Given the description of an element on the screen output the (x, y) to click on. 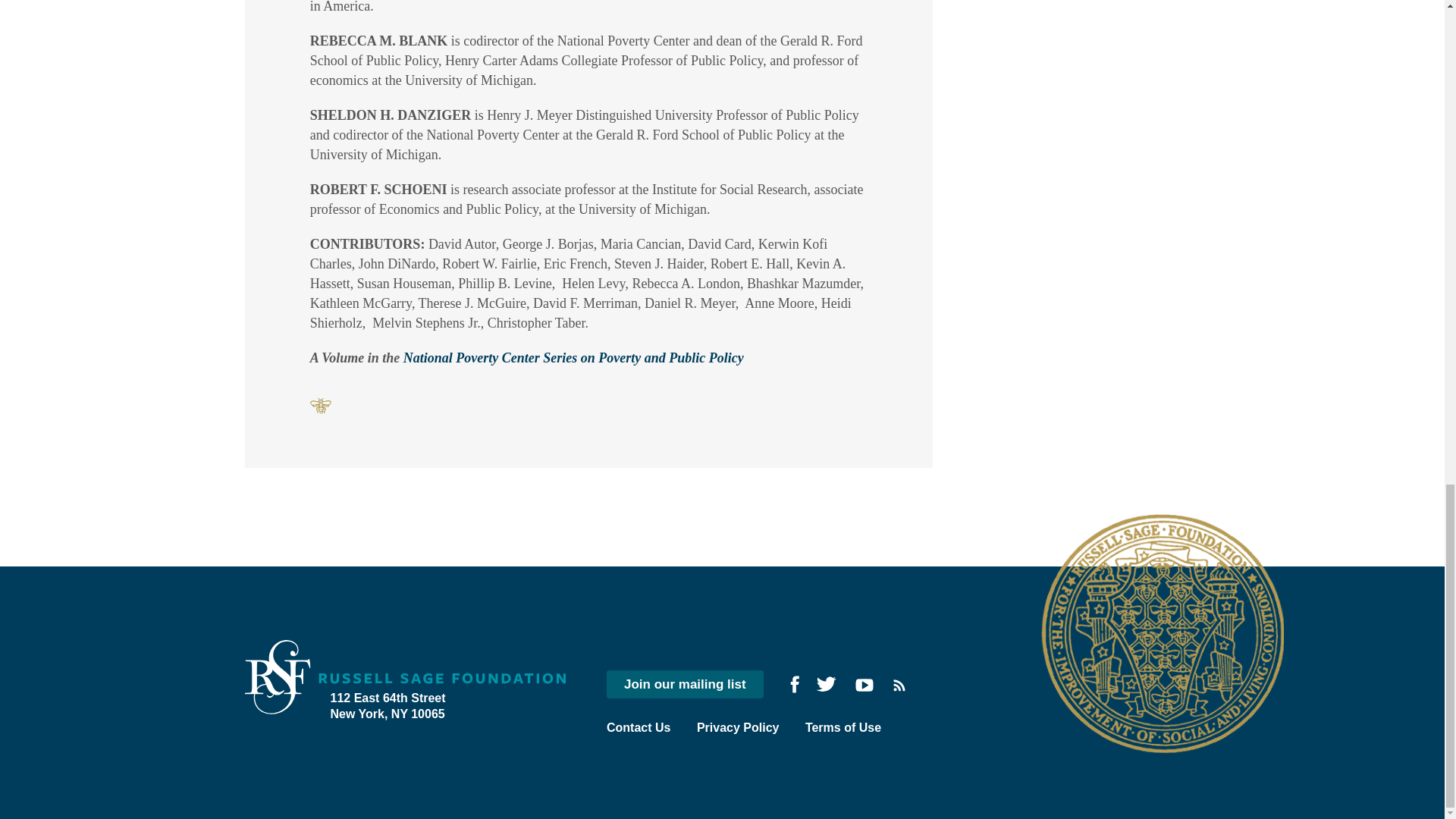
YouTube (864, 684)
Twitter (825, 683)
RSS Feed (899, 685)
